Given the description of an element on the screen output the (x, y) to click on. 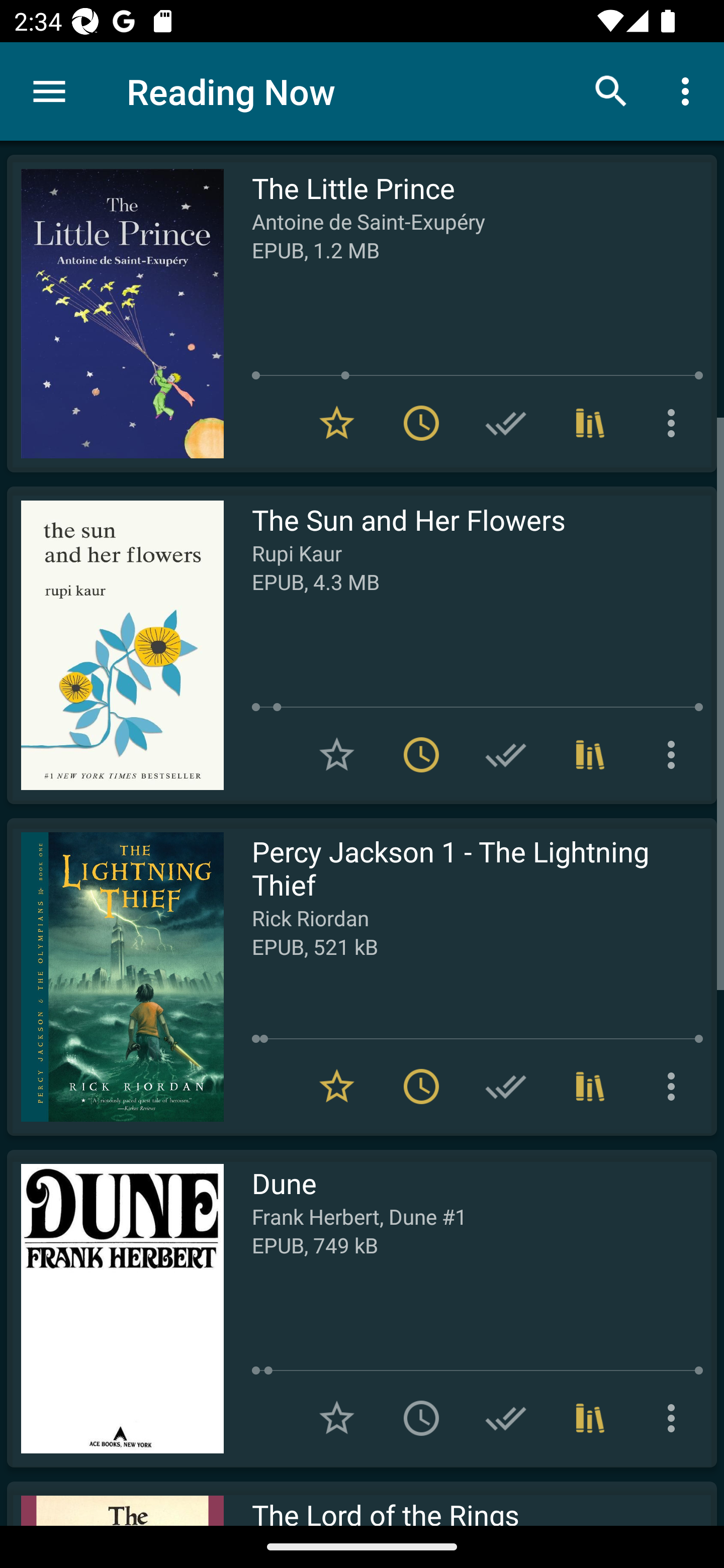
Menu (49, 91)
Search books & documents (611, 90)
More options (688, 90)
Read The Little Prince (115, 313)
Remove from Favorites (336, 423)
Remove from To read (421, 423)
Add to Have read (505, 423)
Collections (1) (590, 423)
More options (674, 423)
Read The Sun and Her Flowers (115, 645)
Add to Favorites (336, 753)
Remove from To read (421, 753)
Add to Have read (505, 753)
Collections (1) (590, 753)
More options (674, 753)
Read Percy Jackson 1 - The Lightning Thief (115, 976)
Remove from Favorites (336, 1086)
Remove from To read (421, 1086)
Add to Have read (505, 1086)
Collections (1) (590, 1086)
More options (674, 1086)
Read Dune (115, 1308)
Add to Favorites (336, 1417)
Add to To read (421, 1417)
Add to Have read (505, 1417)
Collections (1) (590, 1417)
More options (674, 1417)
